Given the description of an element on the screen output the (x, y) to click on. 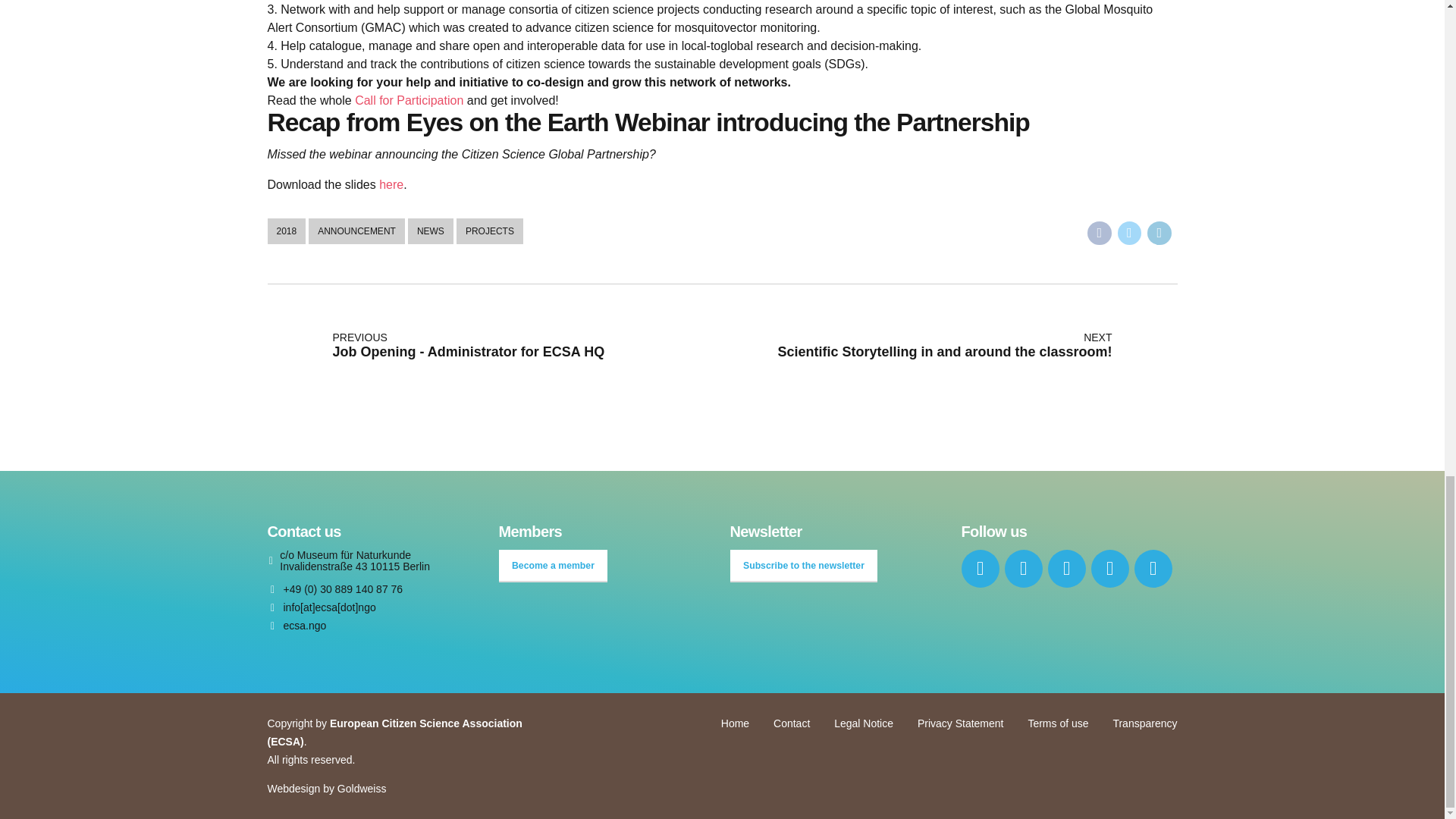
Become a member (553, 565)
Share on Twitter (1129, 232)
Please use our form (320, 607)
Share on Facebook (1099, 232)
Phone (334, 589)
Subscribe to the newsletter  (803, 565)
Address (371, 561)
Share on Linkedin (1159, 232)
ecsa.ngo (296, 625)
